Given the description of an element on the screen output the (x, y) to click on. 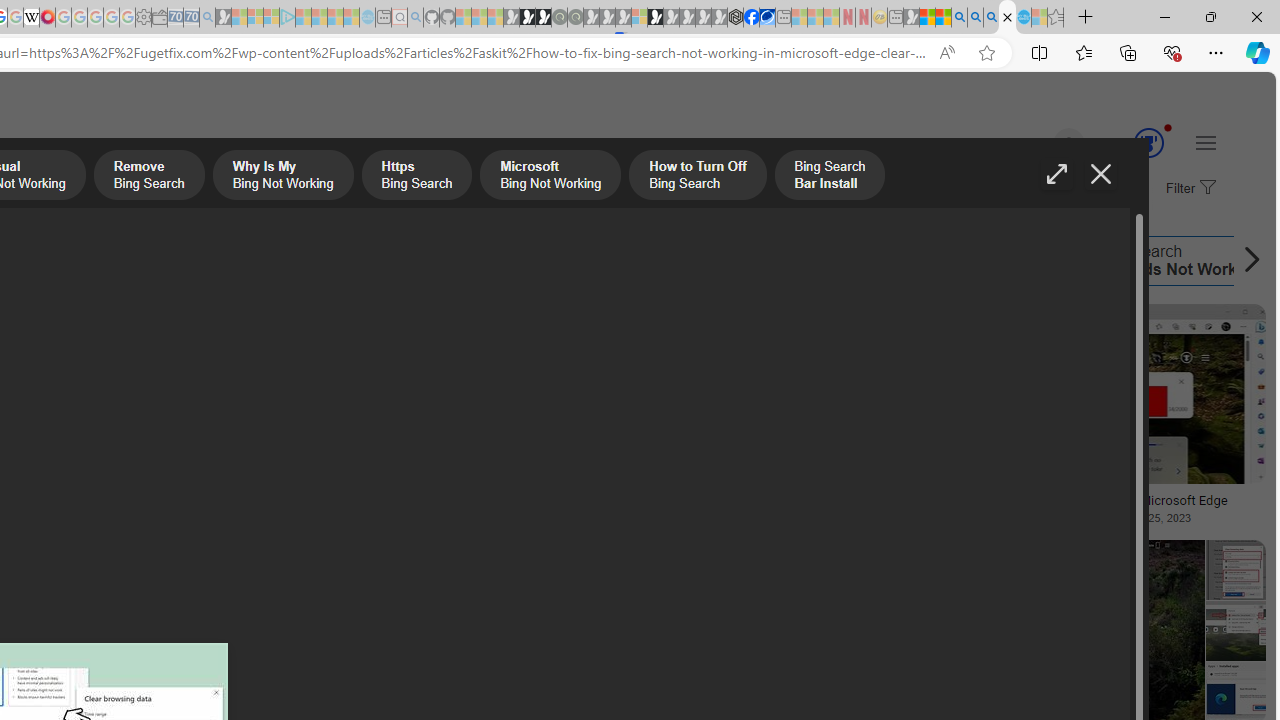
Fix Bing Search Not Working In Microsoft Edge (1108, 500)
Nordace - Cooler Bags (735, 17)
Fix Bing Search Not Working In Microsoft Edge (1108, 500)
Bing Not Working Properly (641, 260)
Crosby Christmas Album (143, 373)
MSN - Sleeping (911, 17)
1:19 (660, 322)
